Given the description of an element on the screen output the (x, y) to click on. 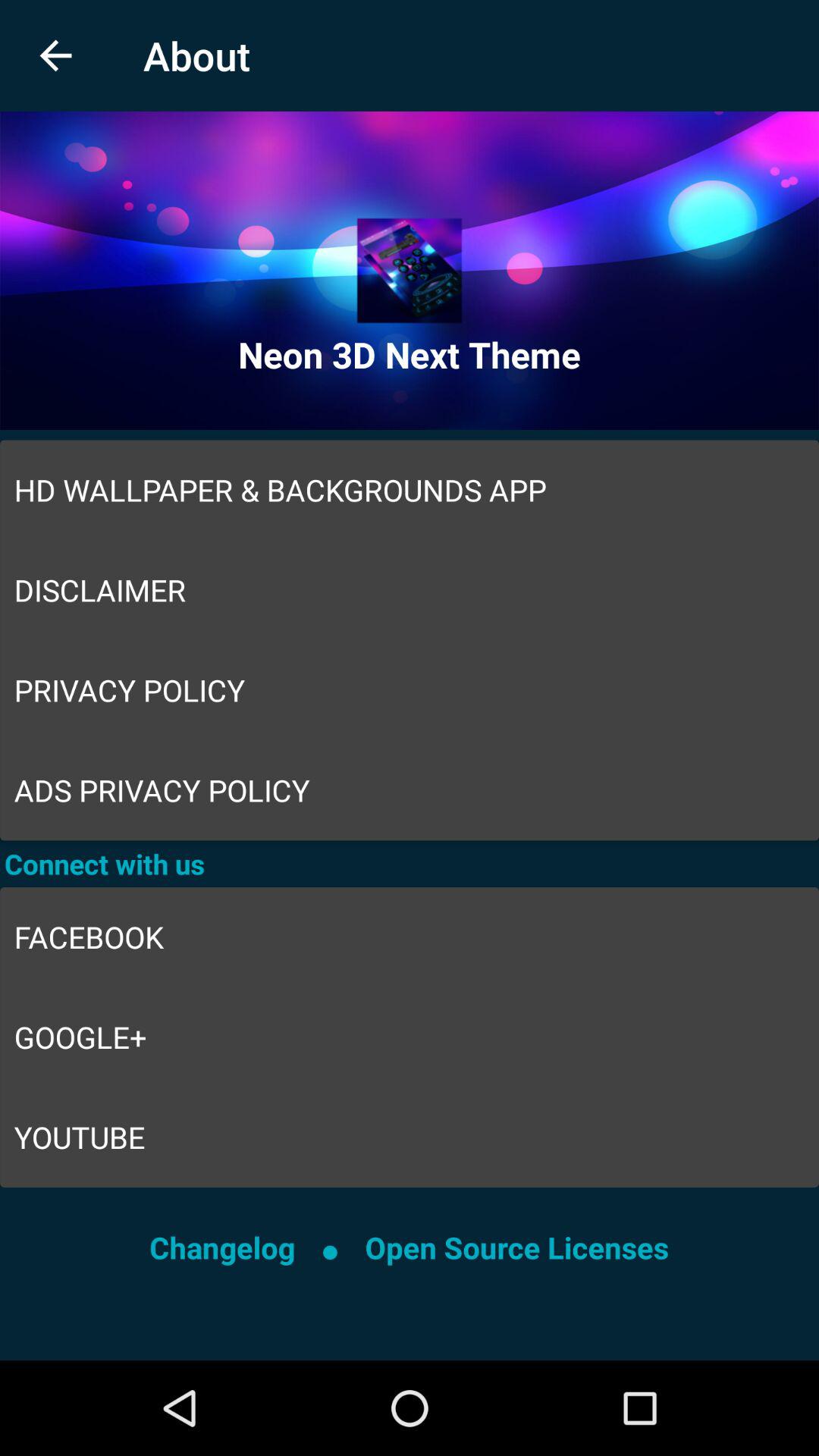
flip until open source licenses item (516, 1247)
